Given the description of an element on the screen output the (x, y) to click on. 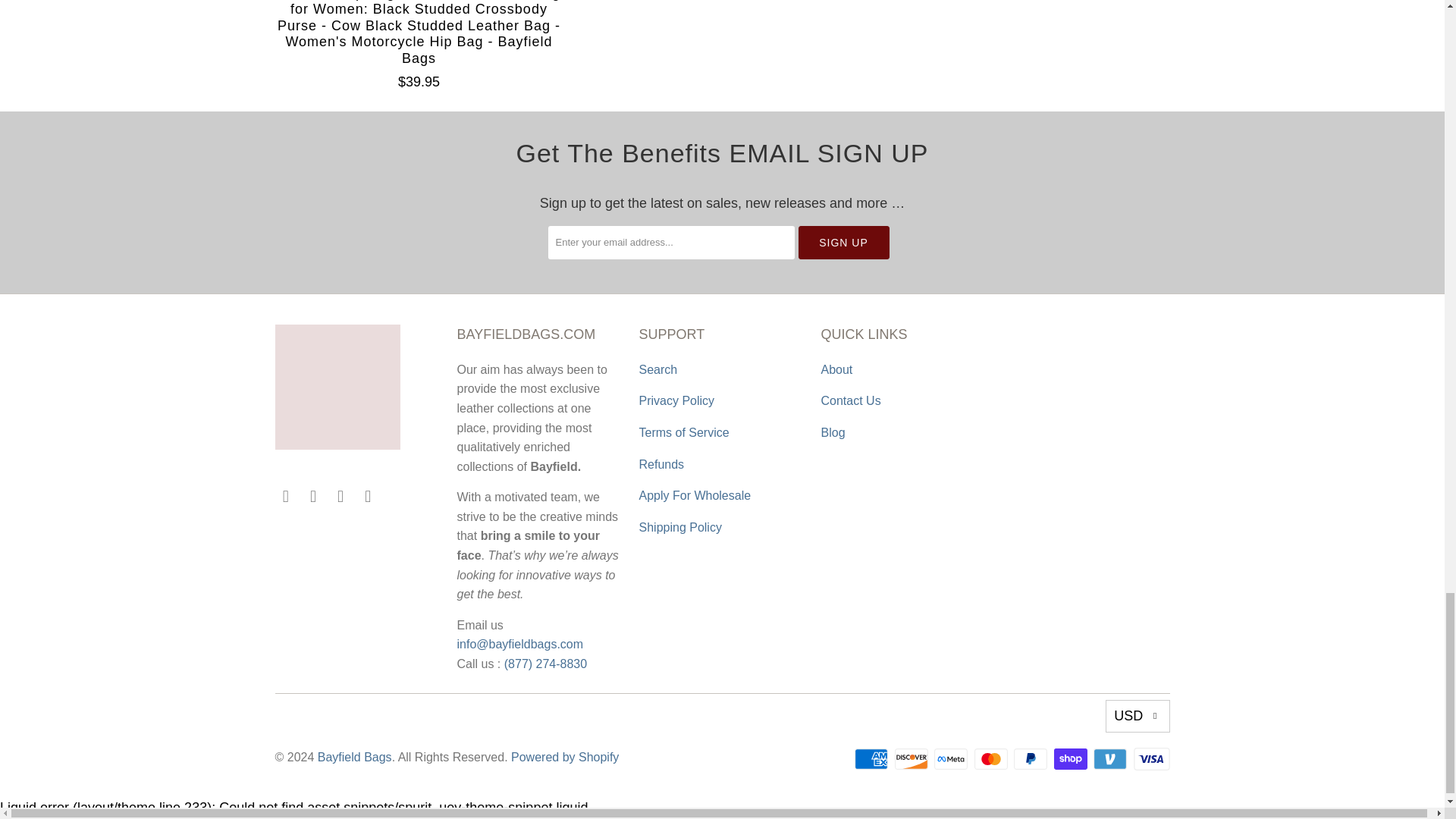
Sign Up (842, 242)
Bayfield Bags  on Instagram (341, 496)
Meta Pay (952, 758)
Email Bayfield Bags  (368, 496)
Visa (1150, 758)
Shop Pay (1072, 758)
PayPal (1031, 758)
Mastercard (992, 758)
Bayfield Bags  on Facebook (286, 496)
Discover (913, 758)
Bayfield Bags  on Pinterest (313, 496)
Venmo (1111, 758)
American Express (872, 758)
